Given the description of an element on the screen output the (x, y) to click on. 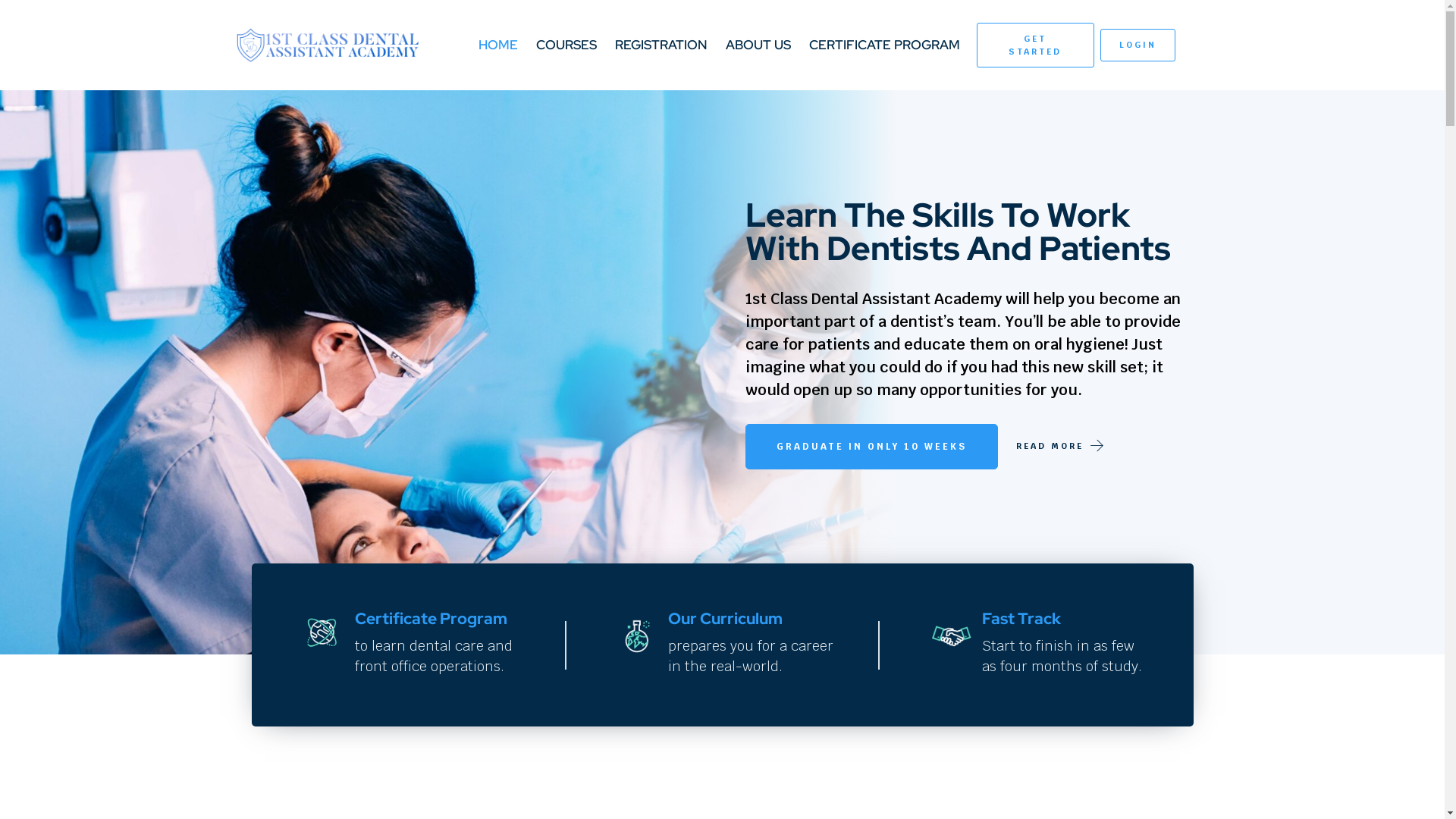
GET STARTED Element type: text (1034, 44)
COURSES Element type: text (566, 45)
REGISTRATION Element type: text (660, 45)
ABOUT US Element type: text (758, 45)
READ MORE Element type: text (1049, 445)
LOGIN Element type: text (1137, 44)
CERTIFICATE PROGRAM Element type: text (884, 45)
HOME Element type: text (498, 45)
GRADUATE IN ONLY 10 WEEKS Element type: text (870, 446)
